Given the description of an element on the screen output the (x, y) to click on. 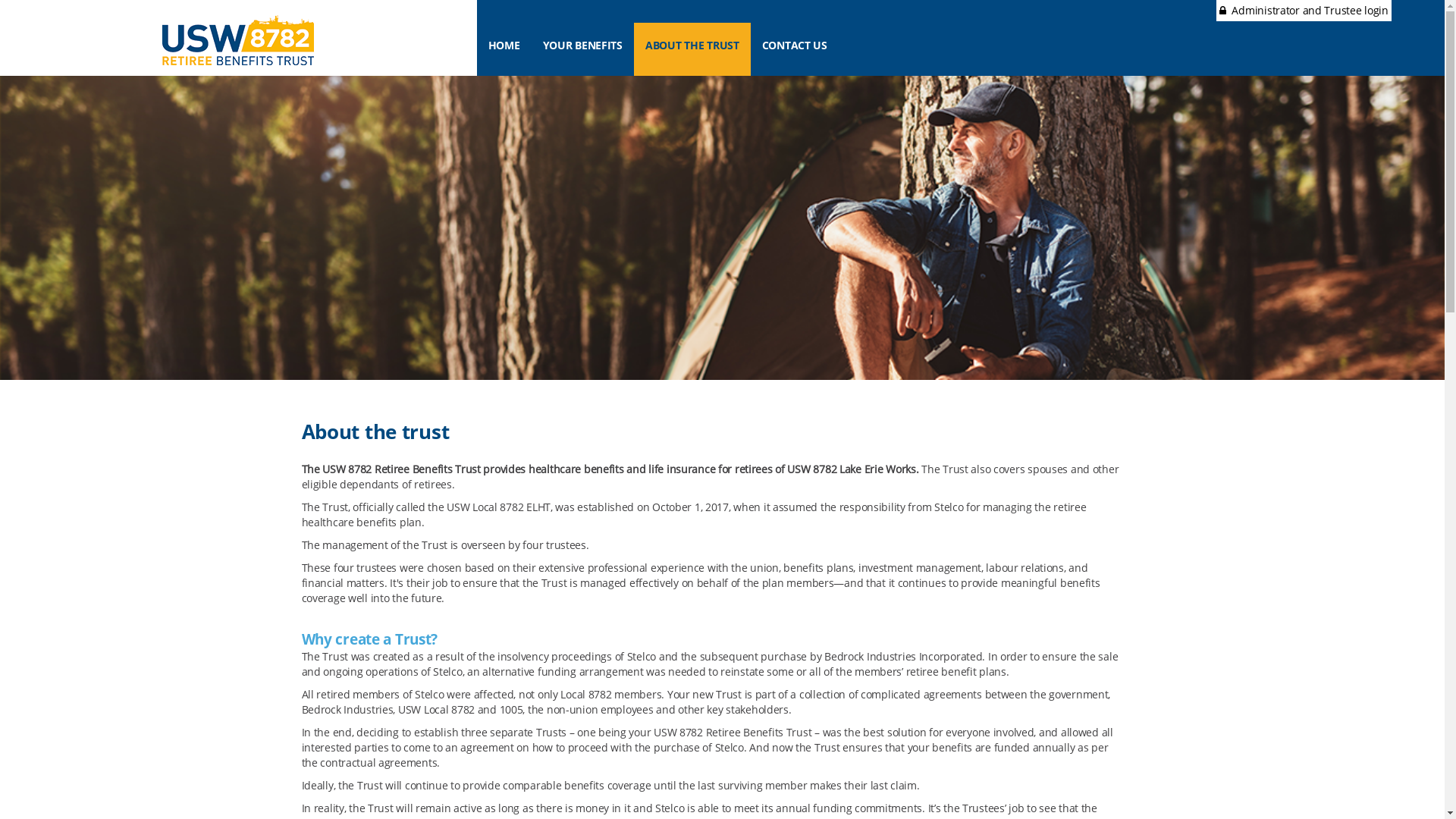
CONTACT US Element type: text (794, 48)
  Administrator and Trustee login Element type: text (1303, 10)
ABOUT THE TRUST Element type: text (691, 48)
HOME Element type: text (503, 48)
YOUR BENEFITS Element type: text (582, 48)
